Given the description of an element on the screen output the (x, y) to click on. 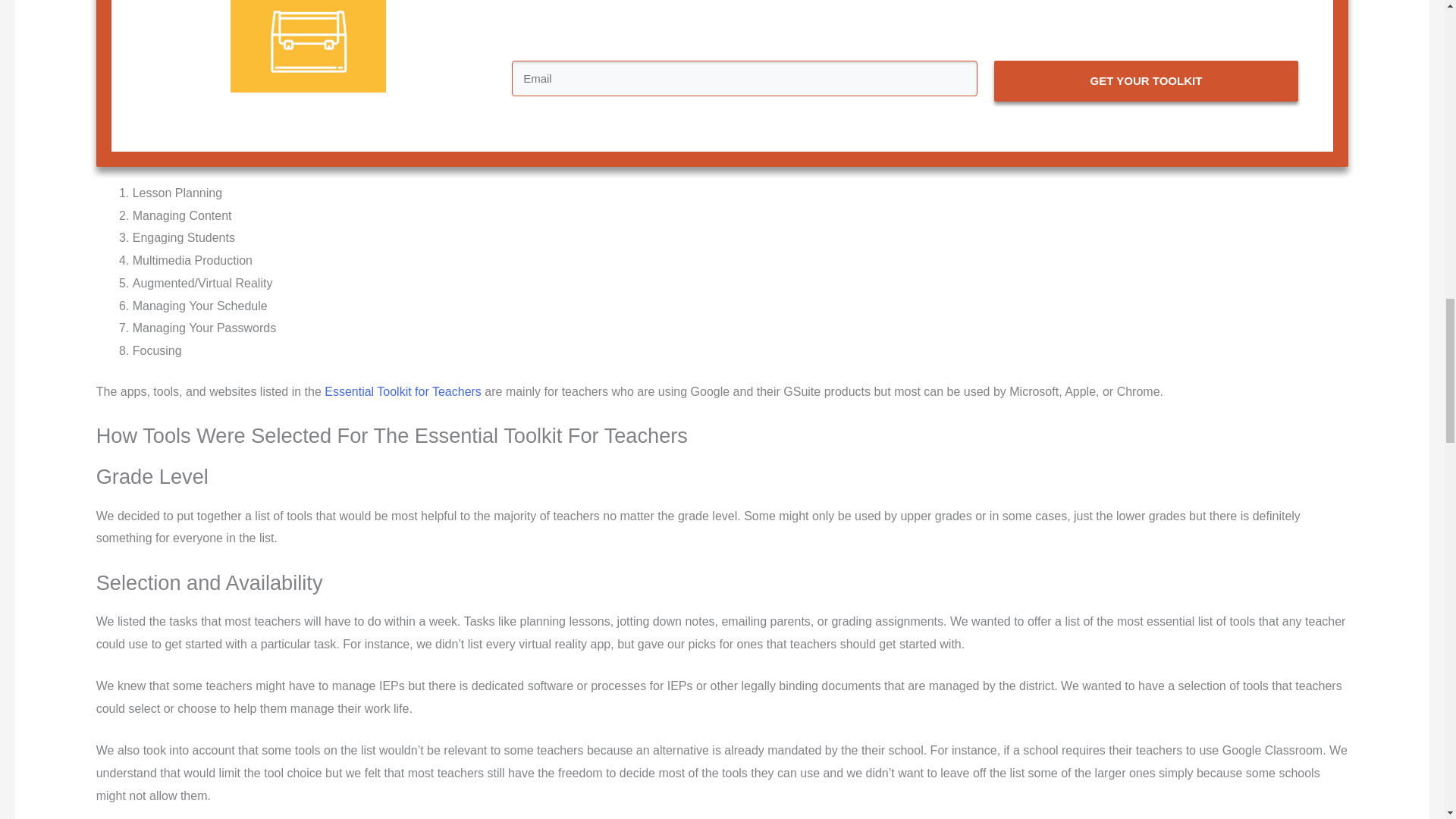
GET YOUR TOOLKIT (1146, 80)
Essential Toolkit for Teachers (402, 391)
THE ESSENTIAL TOOLKIT FOR TEACHERS (307, 46)
